Given the description of an element on the screen output the (x, y) to click on. 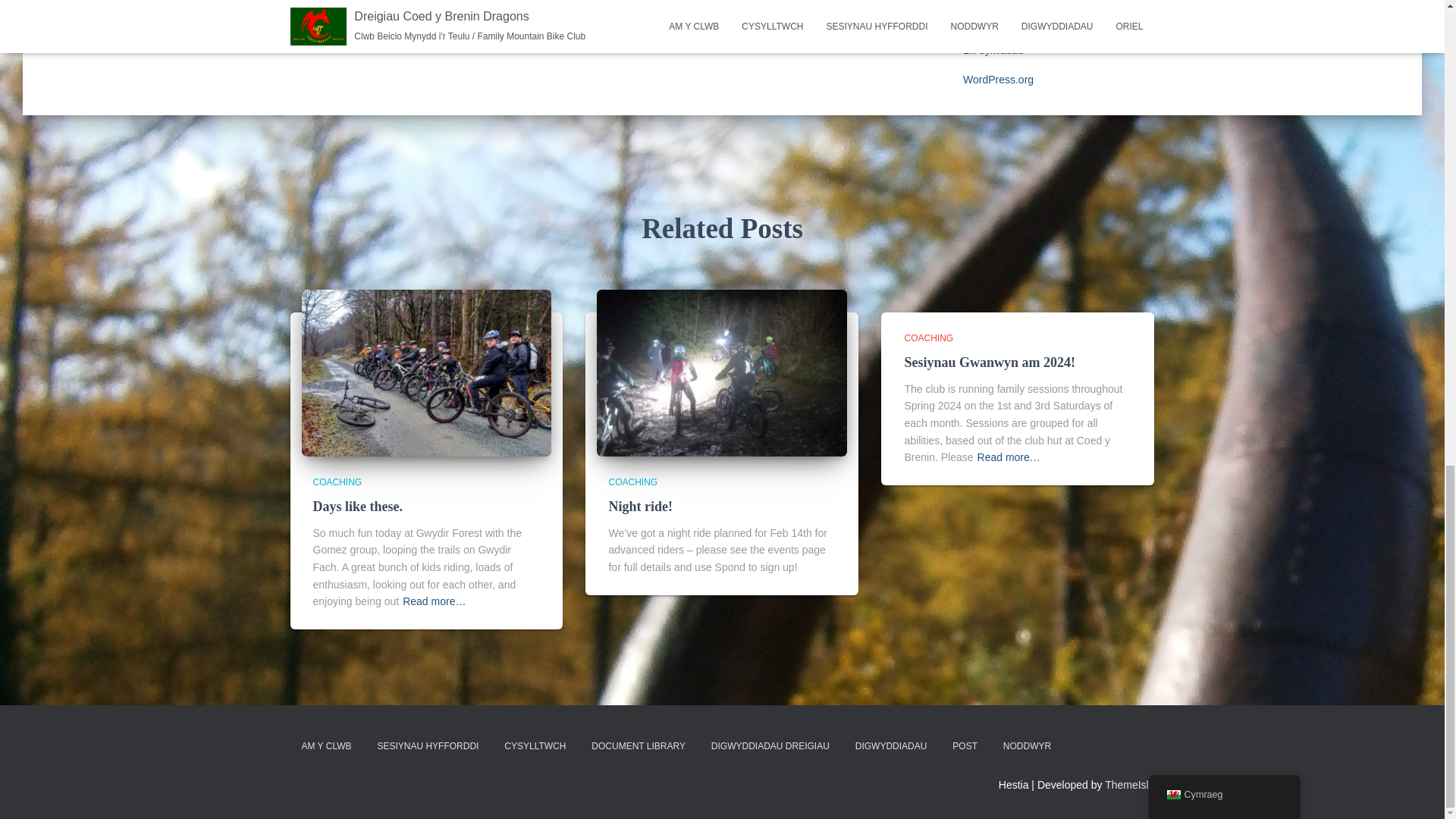
Days like these. (426, 372)
COACHING (337, 481)
WordPress.org (997, 79)
Days like these. (358, 506)
Night ride! (640, 506)
View all posts in Coaching (928, 337)
Llif cofnodion (994, 20)
Sesiynau Gwanwyn am 2024! (989, 362)
Night ride! (721, 372)
View all posts in Coaching (633, 481)
Days like these. (358, 506)
View all posts in Coaching (337, 481)
Llif sylwadau (992, 50)
